Given the description of an element on the screen output the (x, y) to click on. 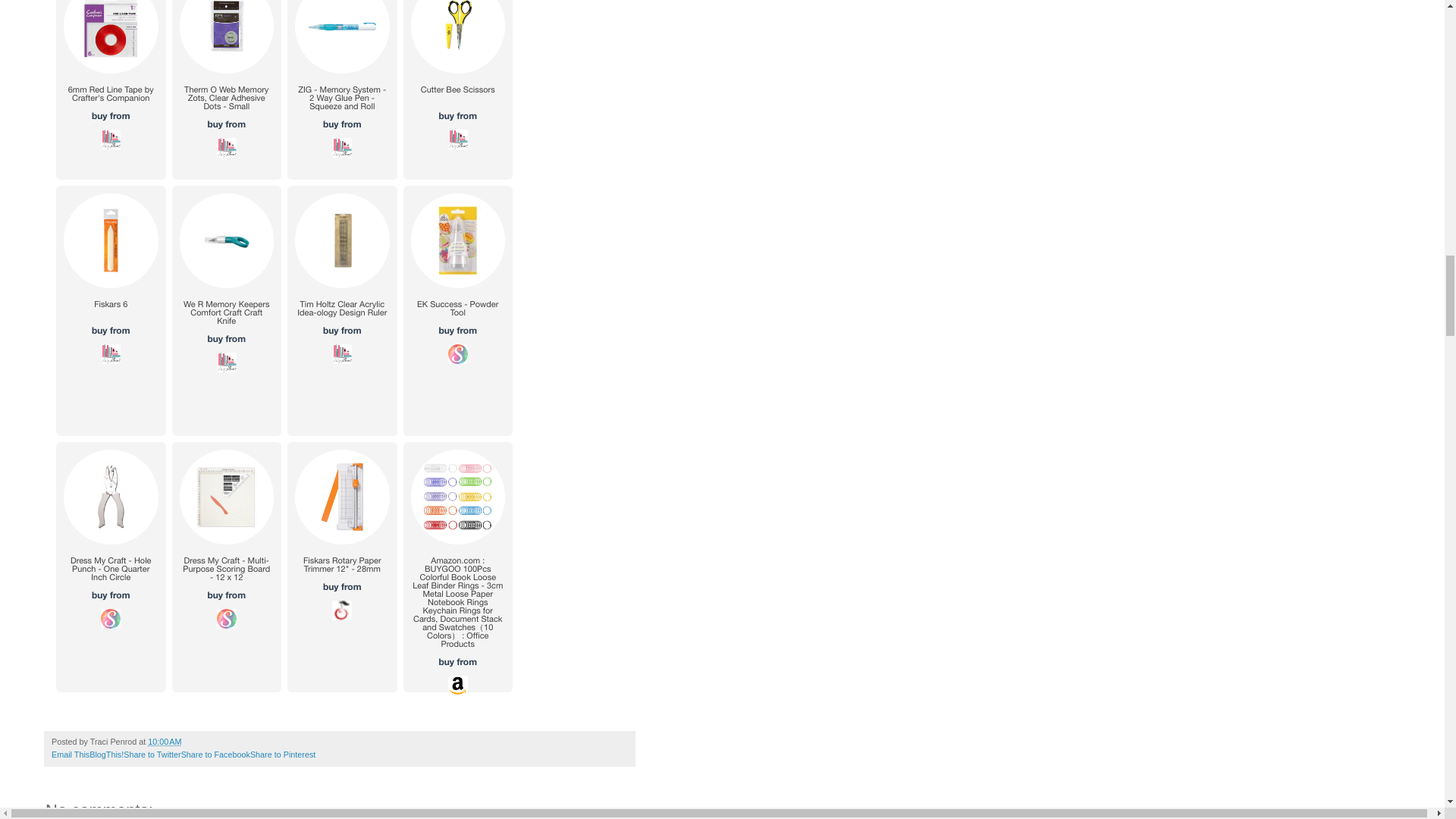
Share to Pinterest (282, 754)
Email Post (189, 741)
BlogThis! (105, 754)
Share to Twitter (151, 754)
Email This (69, 754)
Email This (69, 754)
Share to Twitter (151, 754)
Share to Facebook (215, 754)
BlogThis! (105, 754)
permanent link (164, 741)
Share to Facebook (215, 754)
Share to Pinterest (282, 754)
